Given the description of an element on the screen output the (x, y) to click on. 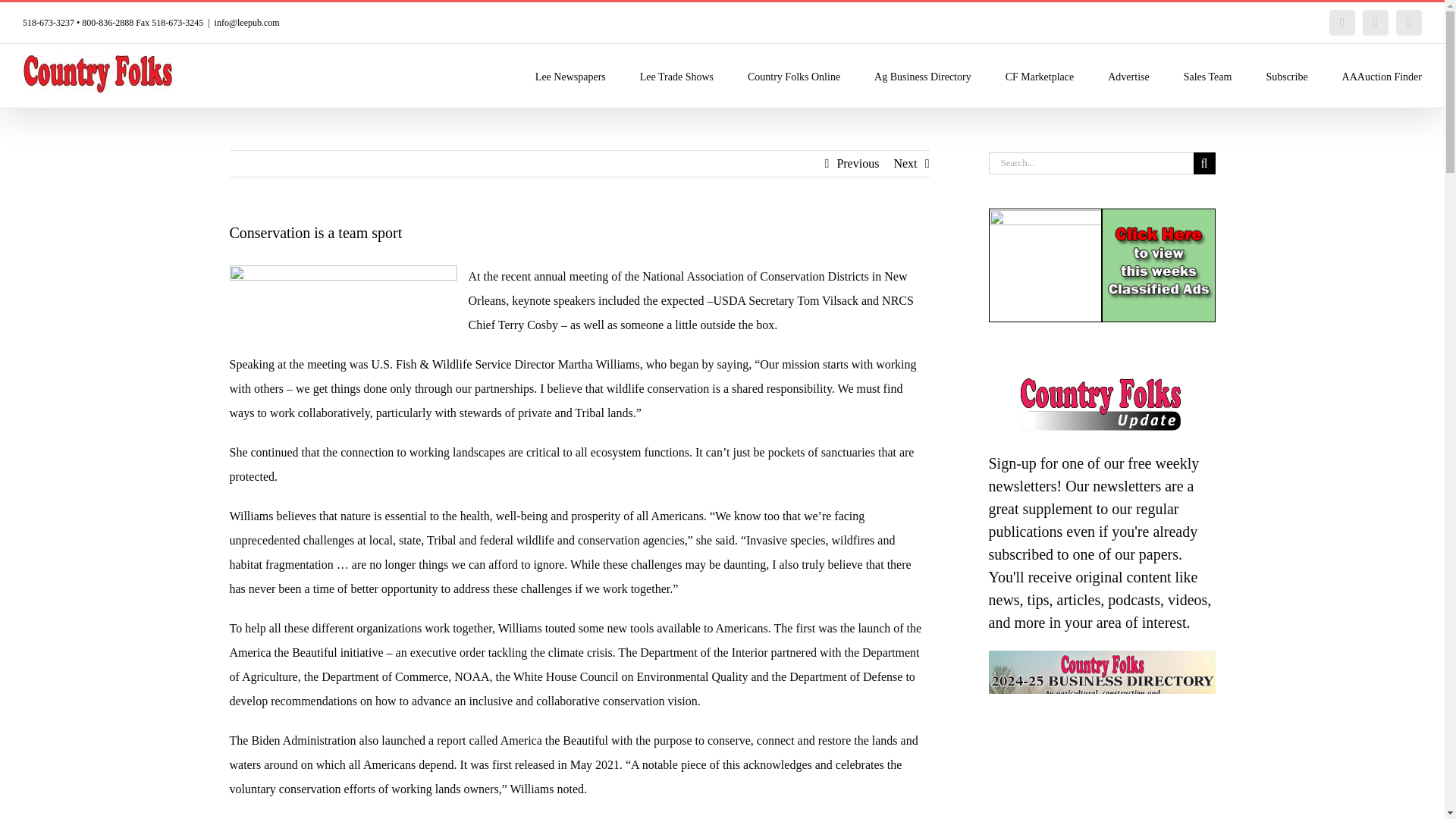
Instagram (1409, 22)
Lee Trade Shows (676, 75)
Facebook (1342, 22)
Lee Newspapers (570, 75)
Twitter (1375, 22)
AAAuction Finder (1382, 75)
Instagram (1409, 22)
Ag Business Directory (923, 75)
Facebook (1342, 22)
Country Folks Online (794, 75)
